Given the description of an element on the screen output the (x, y) to click on. 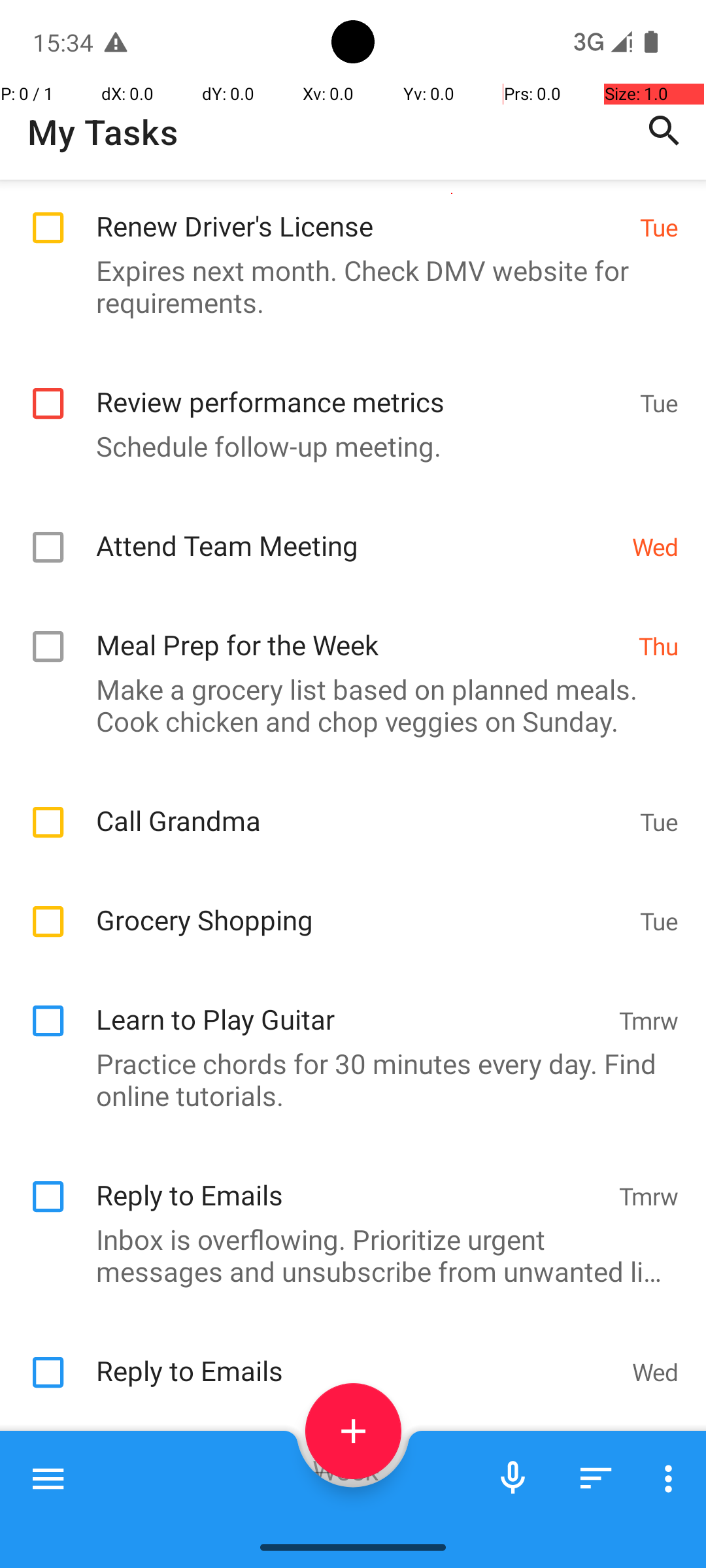
Renew Driver's License Element type: android.widget.TextView (361, 211)
Expires next month. Check DMV website for requirements. Element type: android.widget.TextView (346, 285)
Review performance metrics Element type: android.widget.TextView (361, 387)
Schedule follow-up meeting. Element type: android.widget.TextView (346, 445)
Attend Team Meeting Element type: android.widget.TextView (357, 531)
Make a grocery list based on planned meals. Cook chicken and chop veggies on Sunday. Element type: android.widget.TextView (346, 704)
Call Grandma Element type: android.widget.TextView (361, 806)
Learn to Play Guitar Element type: android.widget.TextView (350, 1004)
Practice chords for 30 minutes every day. Find online tutorials. Element type: android.widget.TextView (346, 1078)
Inbox is overflowing. Prioritize urgent messages and unsubscribe from unwanted lists. Element type: android.widget.TextView (346, 1254)
Schedule Dentist Appointment Element type: android.widget.TextView (360, 1524)
